Given the description of an element on the screen output the (x, y) to click on. 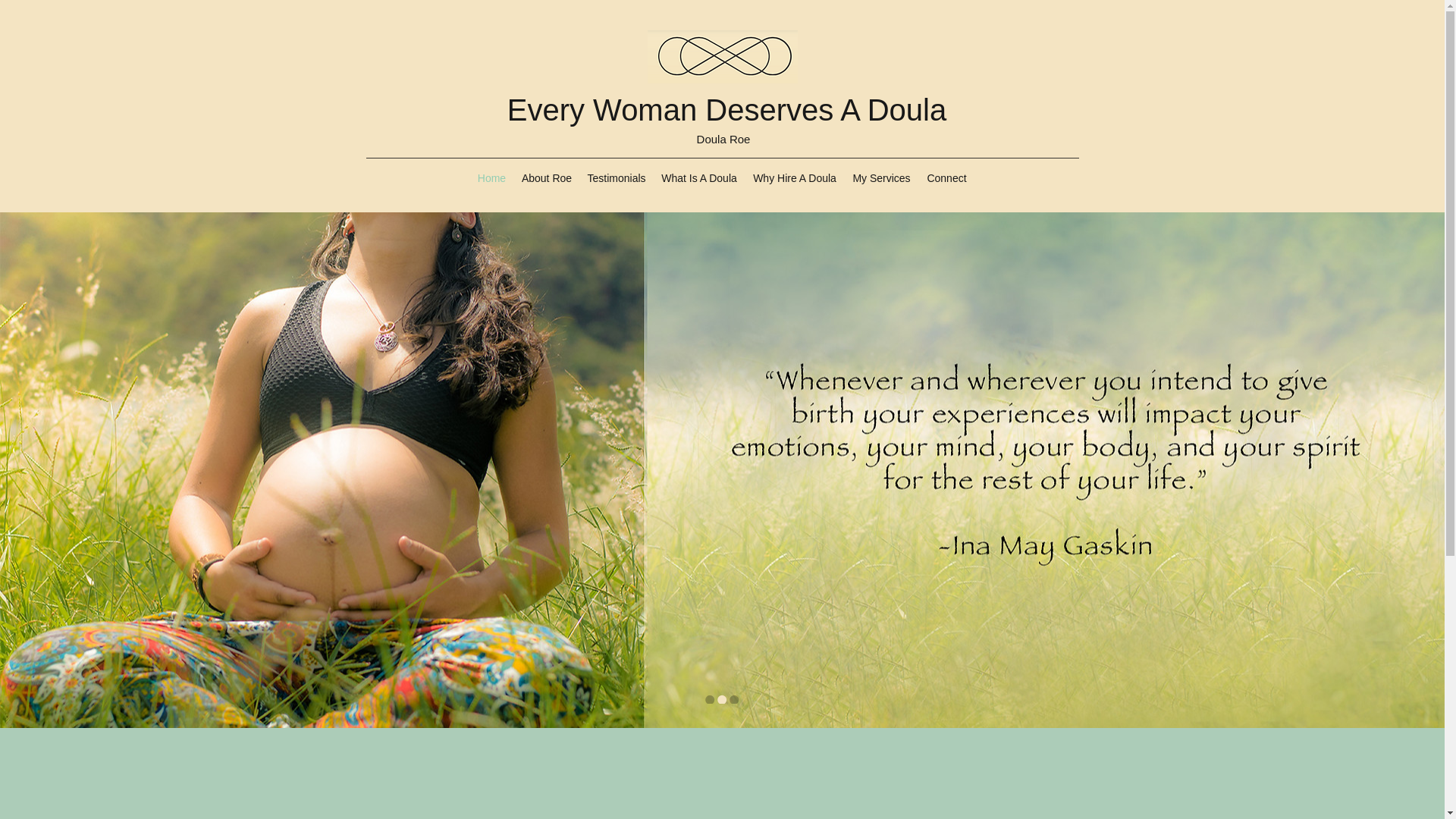
Connect (946, 178)
About Roe (546, 178)
Every Woman Deserves A Doula (726, 109)
Testimonials (615, 178)
Home (491, 178)
Why Hire A Doula (794, 178)
What Is A Doula (699, 178)
My Services (881, 178)
